Given the description of an element on the screen output the (x, y) to click on. 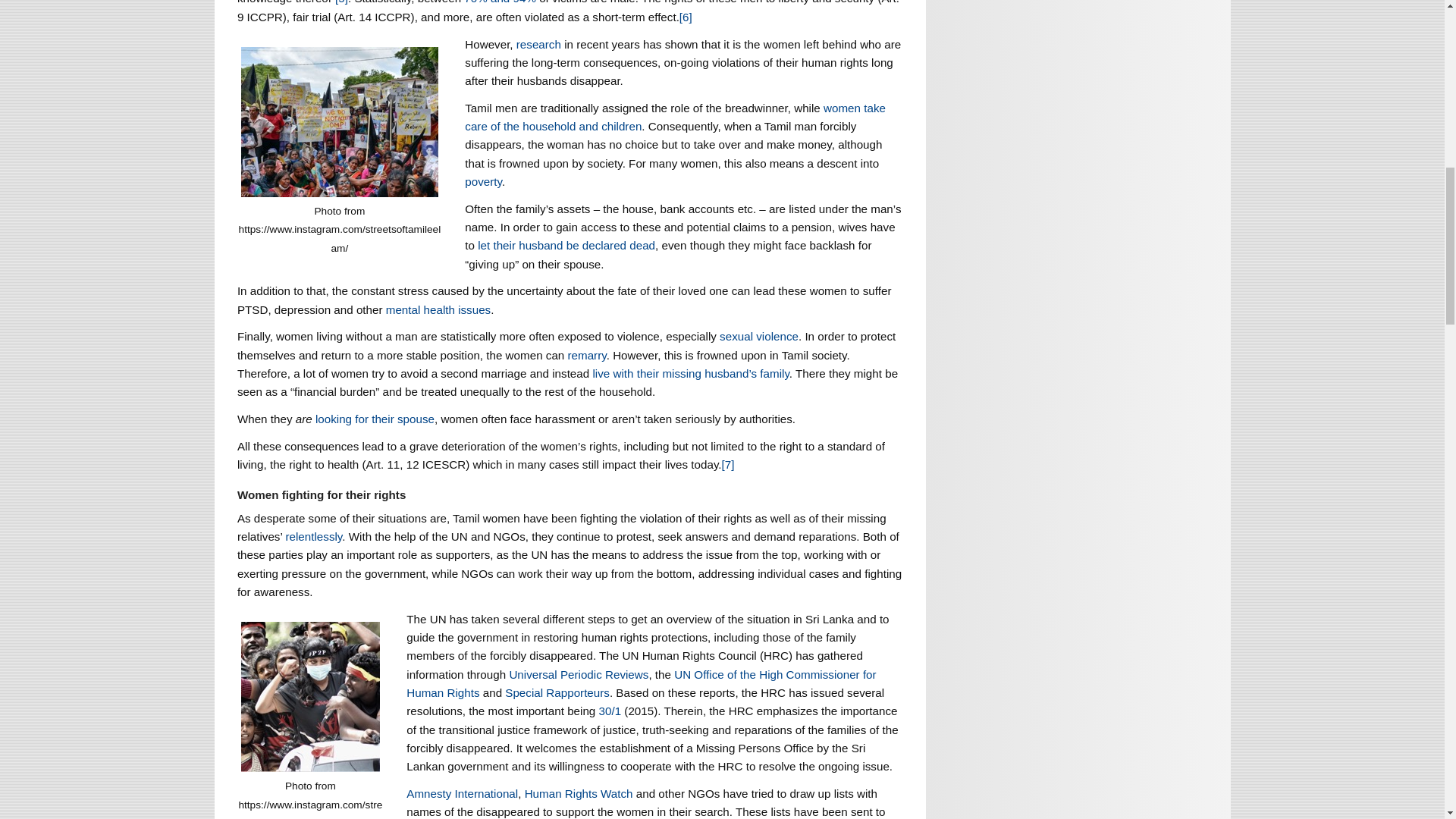
remarry (587, 354)
mental health issues (437, 309)
women take care of the household and children (674, 116)
sexual violence (758, 336)
research (538, 43)
poverty (483, 181)
let their husband be declared dead (566, 245)
